Given the description of an element on the screen output the (x, y) to click on. 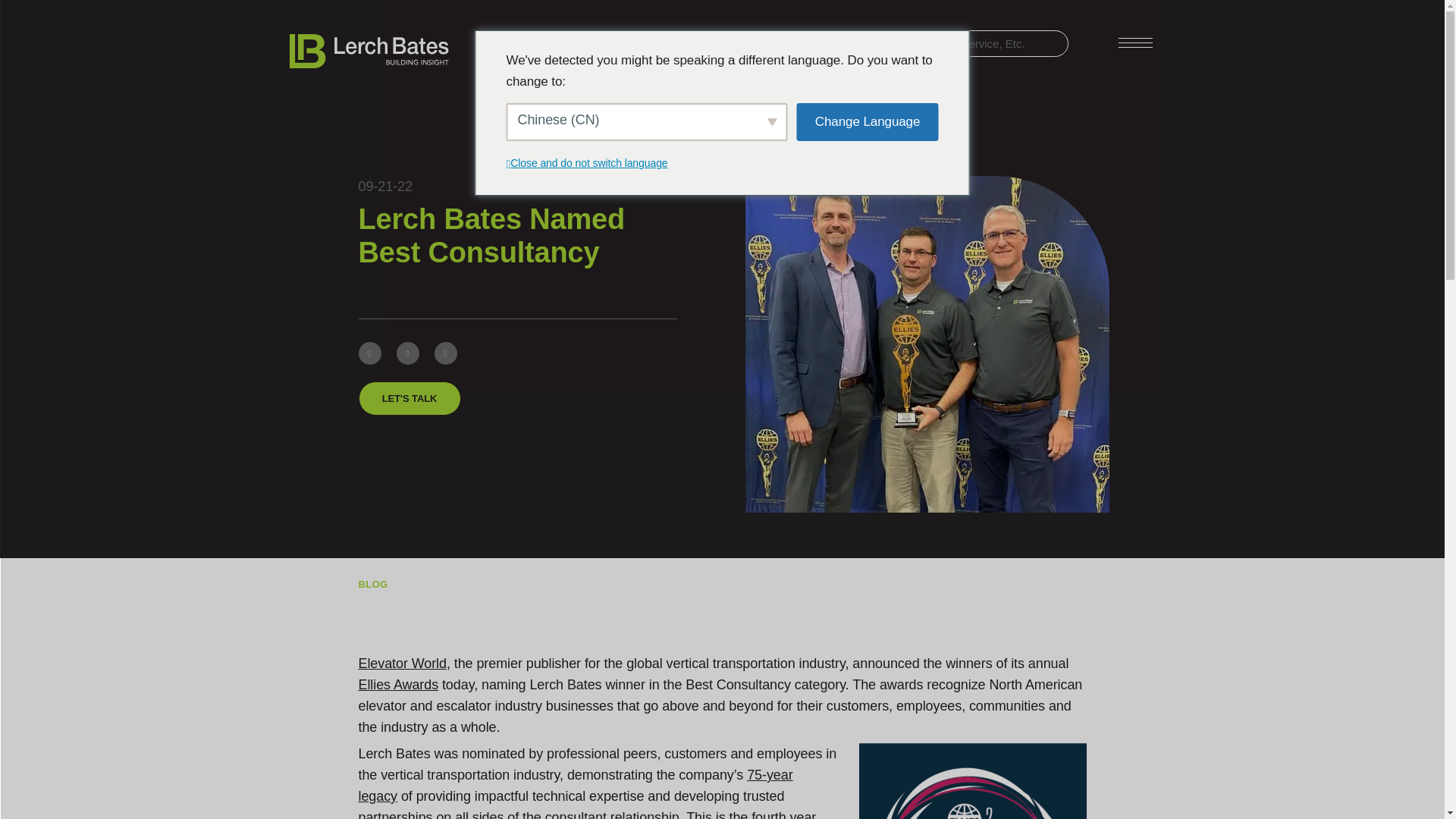
Close and do not switch language (588, 162)
